Given the description of an element on the screen output the (x, y) to click on. 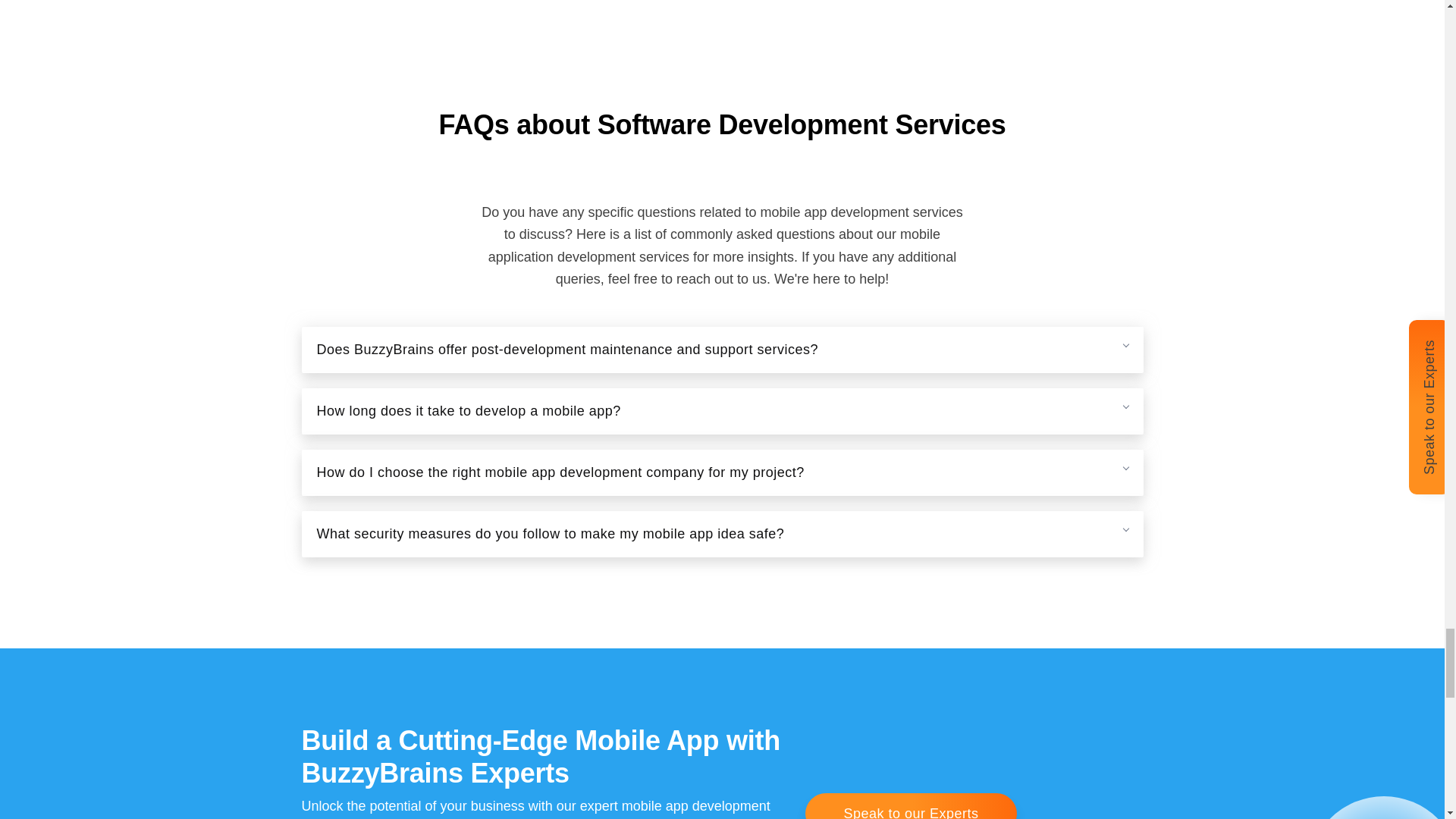
Speak to our Experts (910, 806)
How long does it take to develop a mobile app? (721, 411)
